Given the description of an element on the screen output the (x, y) to click on. 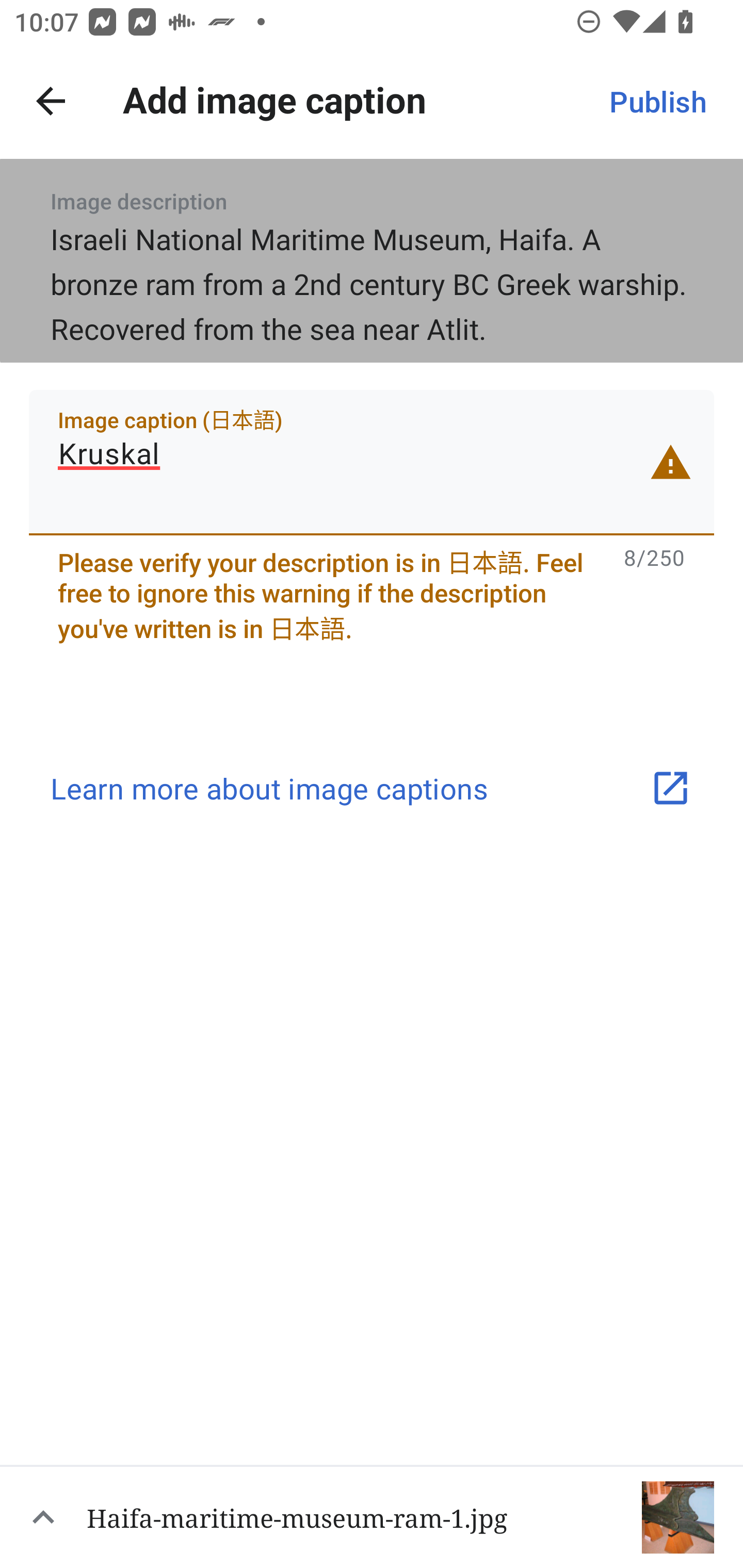
Cancel (50, 101)
Publish (657, 101)
Kruskal
 (371, 462)
Learn more about image captions (371, 787)
Haifa-maritime-museum-ram-1.jpg (371, 1516)
